Given the description of an element on the screen output the (x, y) to click on. 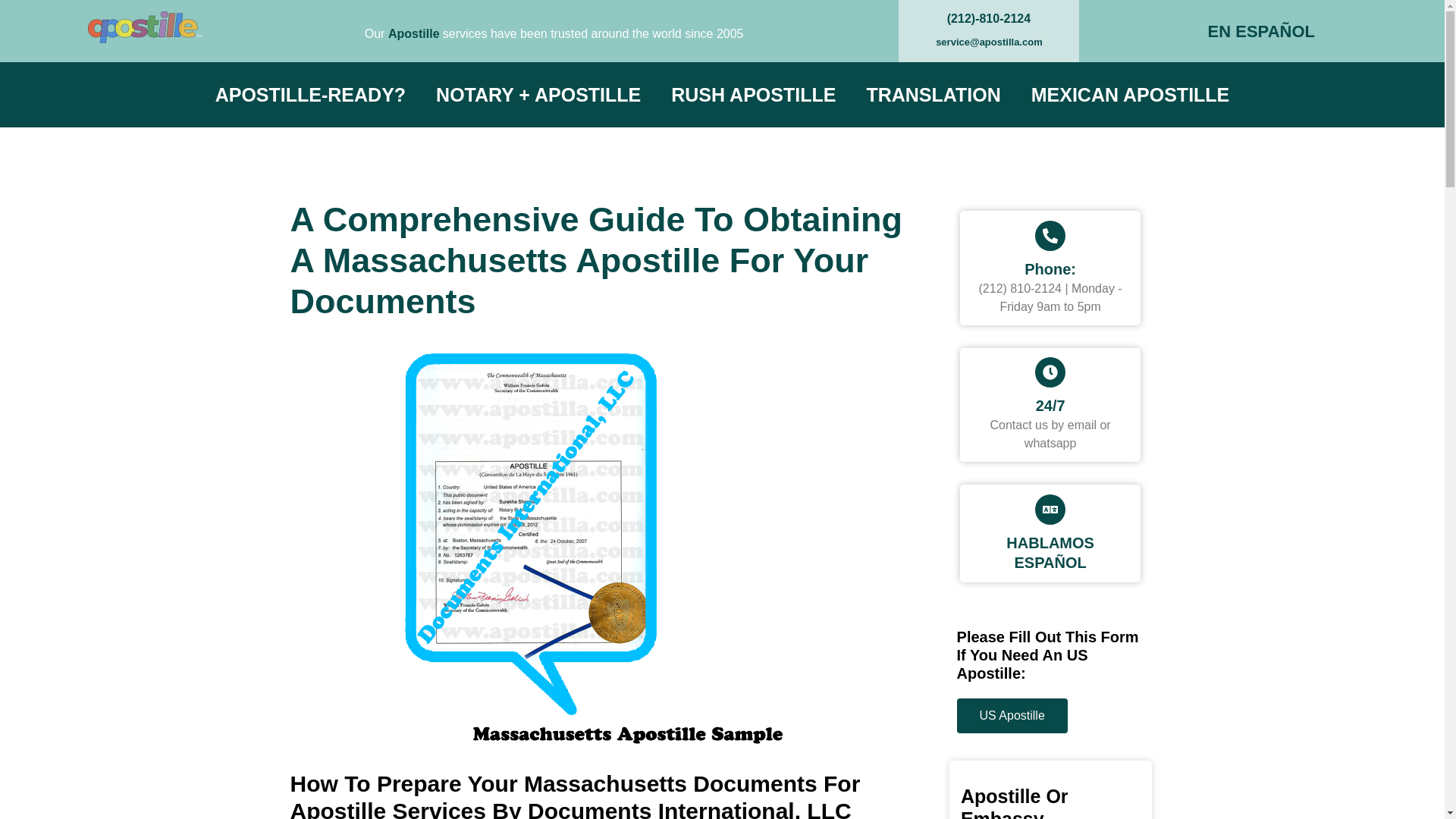
Phone: (1050, 269)
US Apostille (1011, 715)
APOSTILLE-READY? (310, 94)
MEXICAN APOSTILLE (1130, 94)
TRANSLATION (932, 94)
RUSH APOSTILLE (753, 94)
apostille-newlogo-no-bckgnd (144, 27)
